Given the description of an element on the screen output the (x, y) to click on. 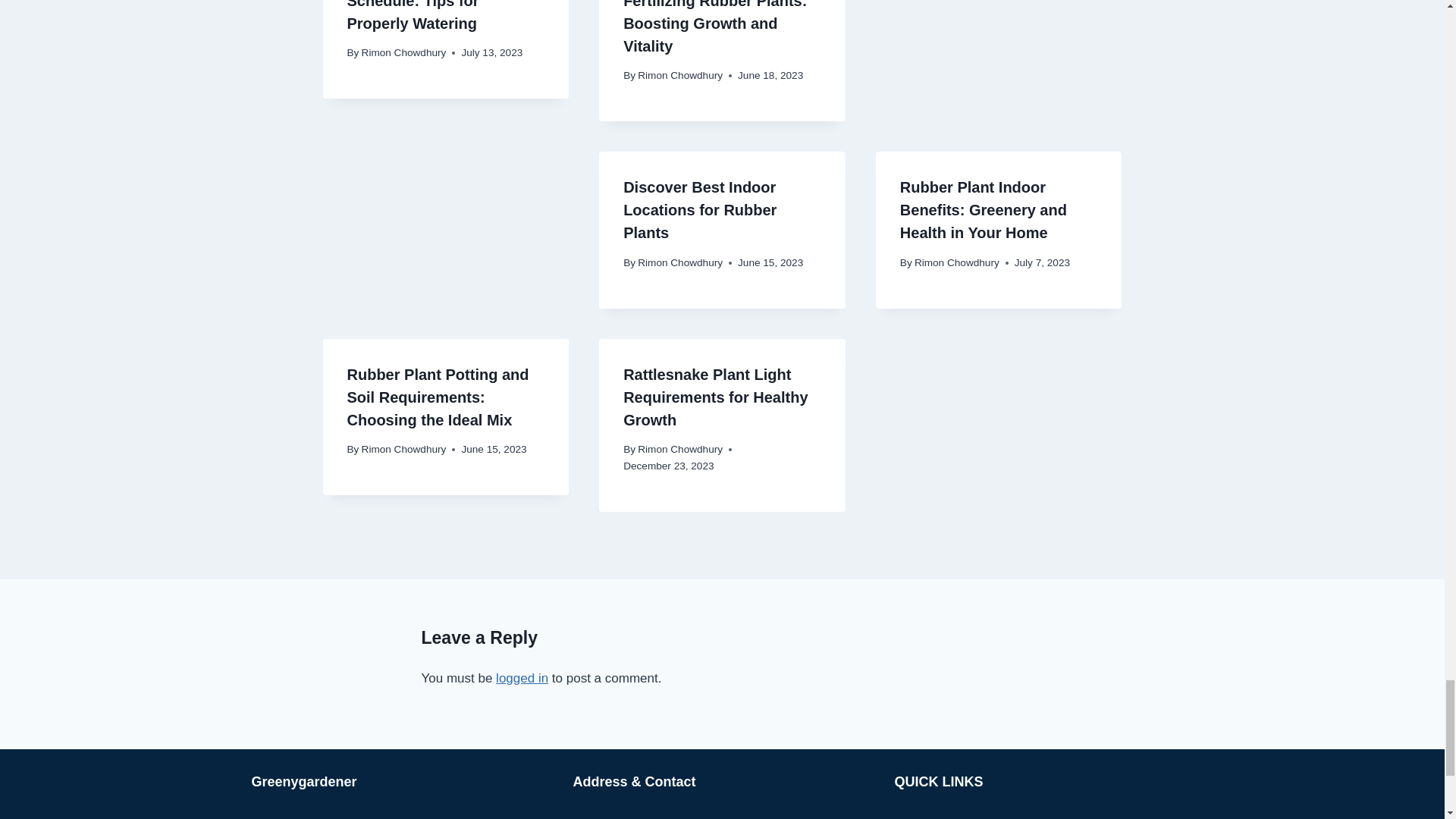
Rimon Chowdhury (403, 52)
Rubber Plant Watering Schedule: Tips for Properly Watering (429, 15)
